Given the description of an element on the screen output the (x, y) to click on. 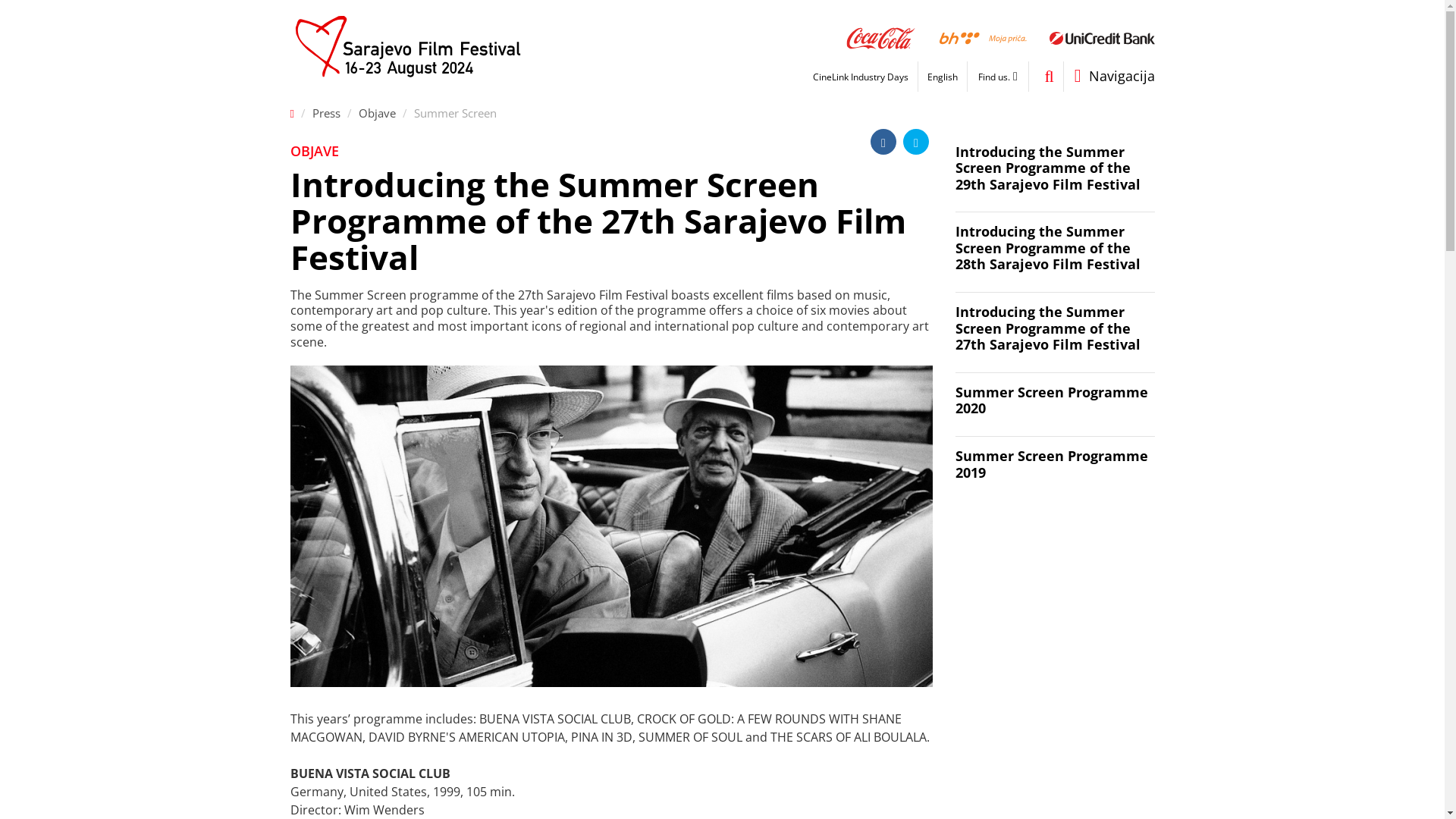
CineLink Industry Days Element type: text (860, 77)
Find us. Element type: text (993, 76)
Summer Screen Programme 2020 Element type: text (1054, 410)
Objave Element type: text (376, 112)
Summer Screen Programme 2019 Element type: text (1054, 473)
English Element type: text (942, 77)
Navigacija Element type: text (1108, 76)
Summer Screen Element type: text (455, 112)
Press Element type: text (326, 112)
